Given the description of an element on the screen output the (x, y) to click on. 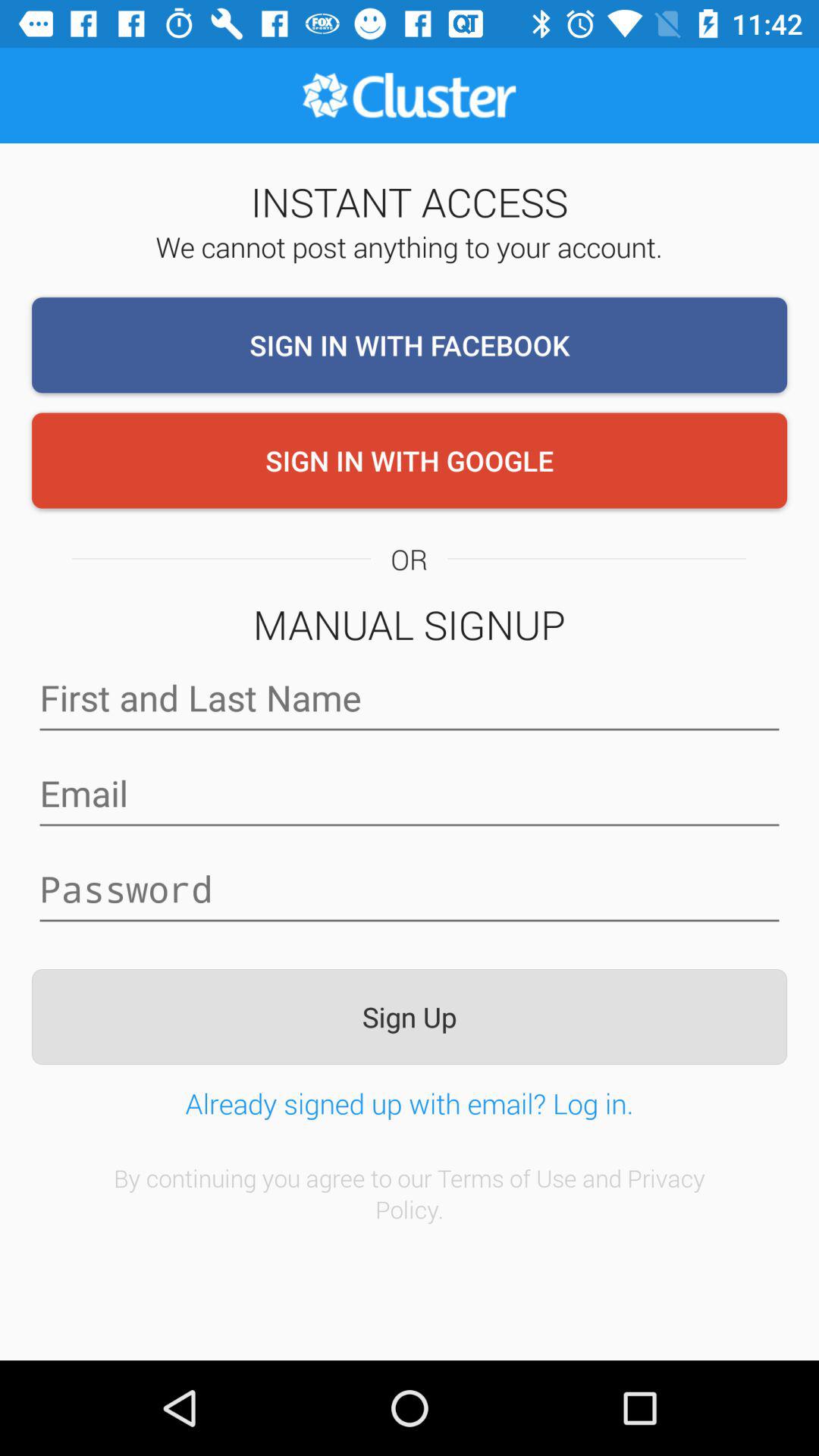
insert password (409, 889)
